Given the description of an element on the screen output the (x, y) to click on. 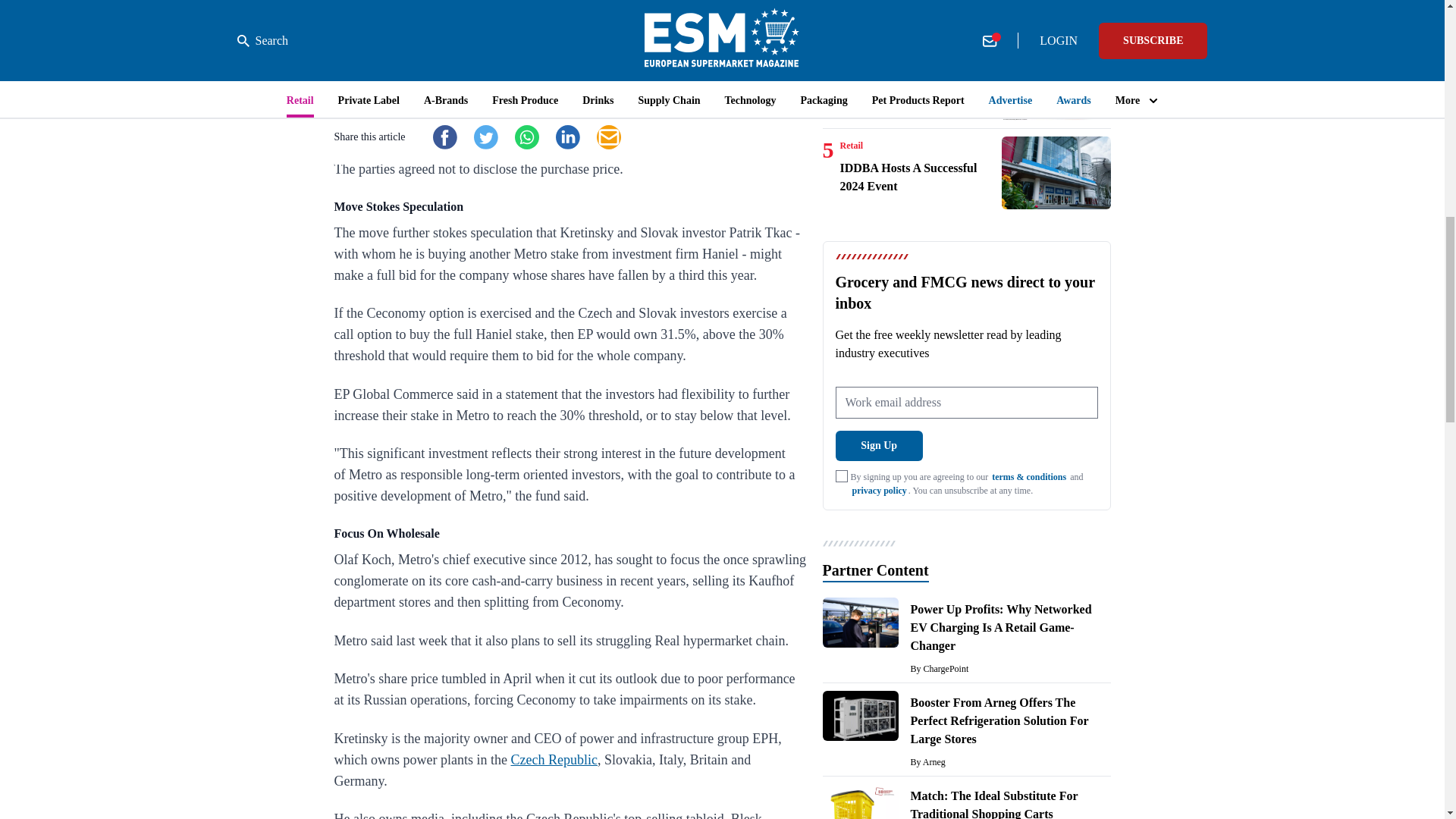
Czech Republic (553, 759)
